Given the description of an element on the screen output the (x, y) to click on. 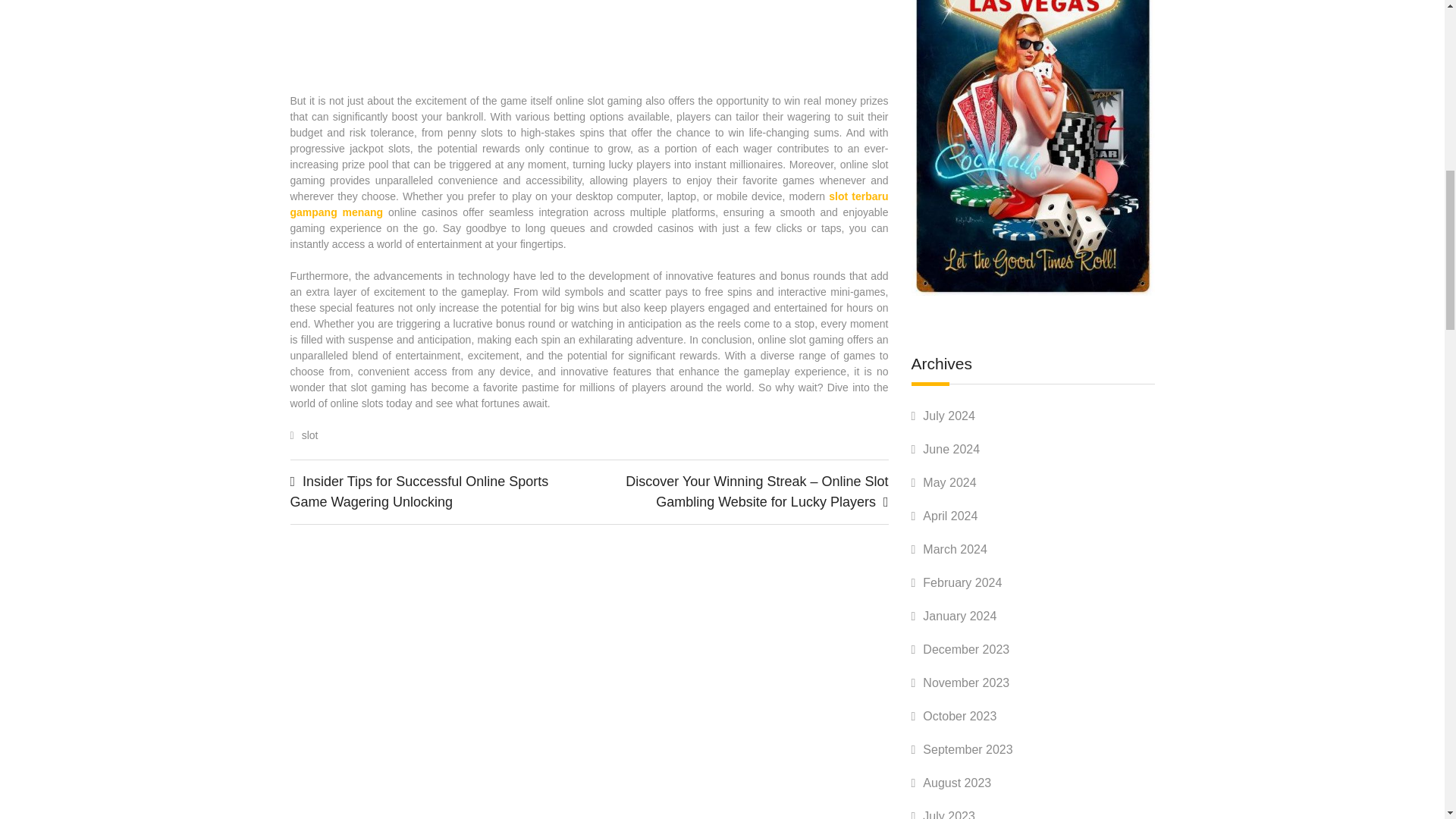
March 2024 (955, 549)
December 2023 (966, 649)
February 2024 (962, 582)
slot (309, 435)
May 2024 (949, 481)
slot terbaru gampang menang (588, 204)
November 2023 (966, 682)
August 2023 (957, 782)
October 2023 (959, 716)
